Given the description of an element on the screen output the (x, y) to click on. 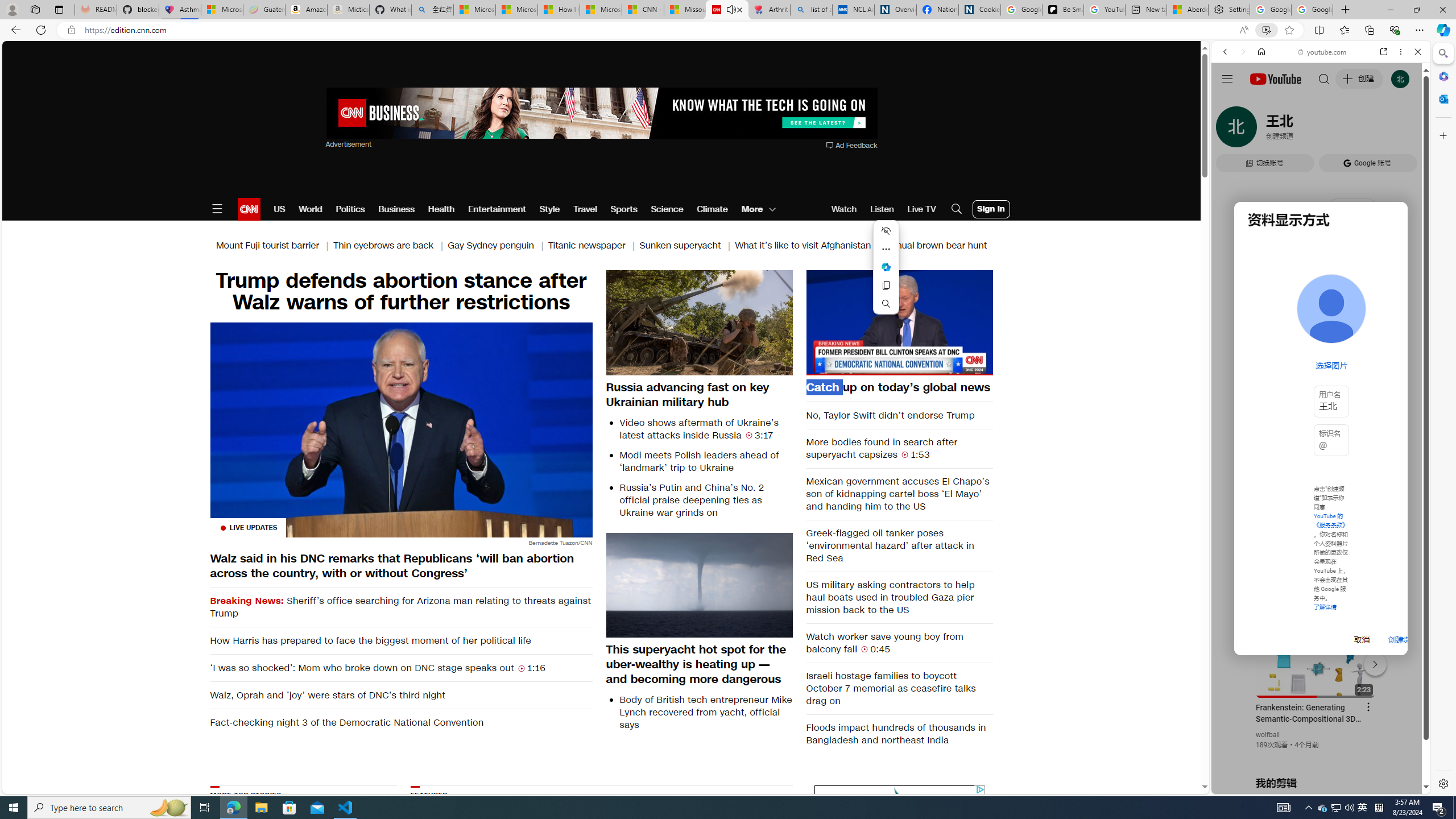
Class: dict_pnIcon rms_img (1312, 784)
Titanic newspaper | (593, 245)
Mute (821, 365)
Copy (885, 285)
